Given the description of an element on the screen output the (x, y) to click on. 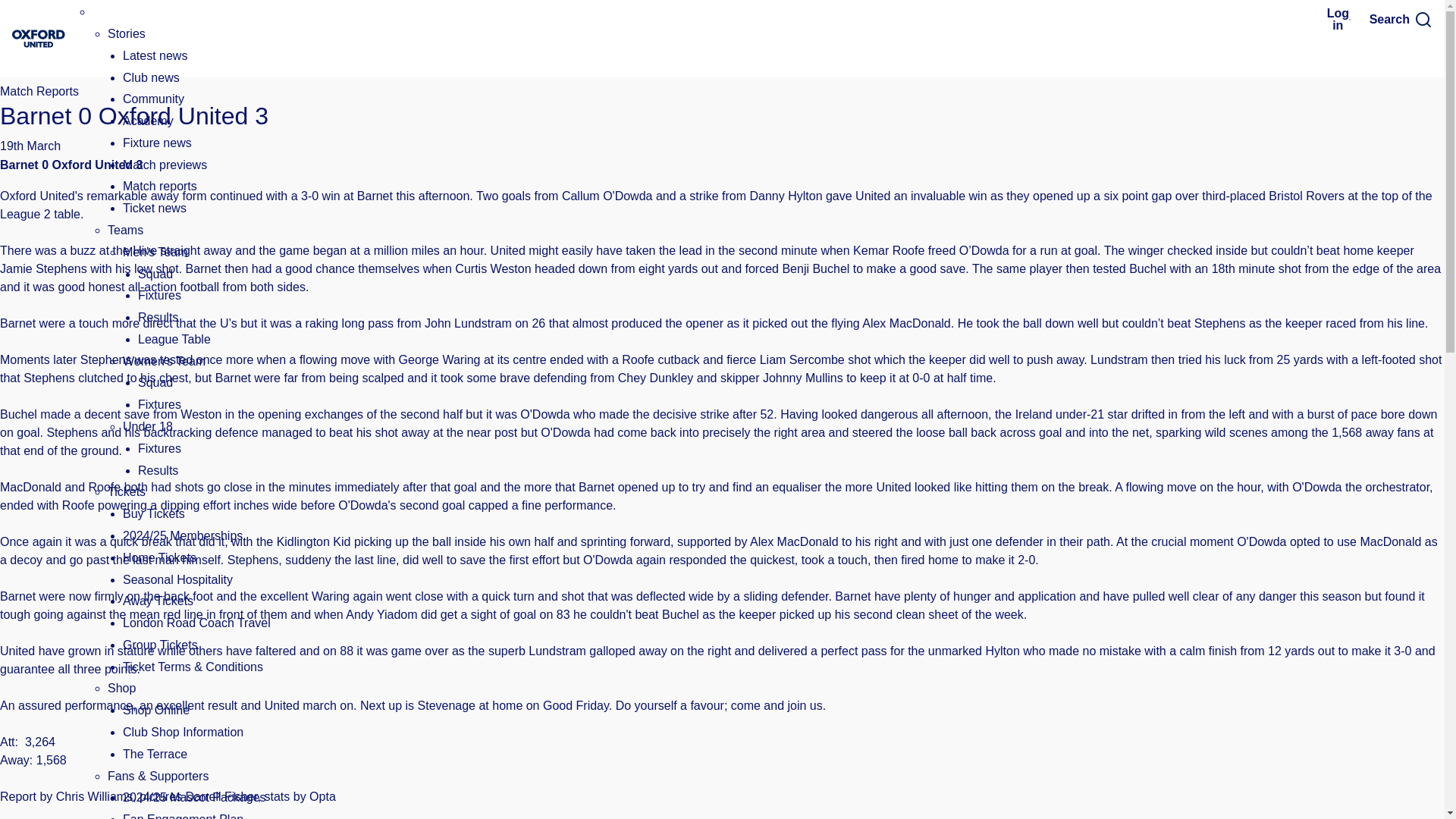
Latest news (154, 55)
London Road Coach Travel (196, 622)
Men's Team (154, 251)
League Table (174, 338)
Results (157, 470)
Women's Team (163, 360)
Squad (155, 273)
Results (157, 317)
Community (153, 98)
Fixtures (159, 295)
Stories (126, 33)
Seasonal Hospitality (177, 579)
Tickets (126, 491)
Club news (150, 77)
Away Tickets (157, 600)
